Given the description of an element on the screen output the (x, y) to click on. 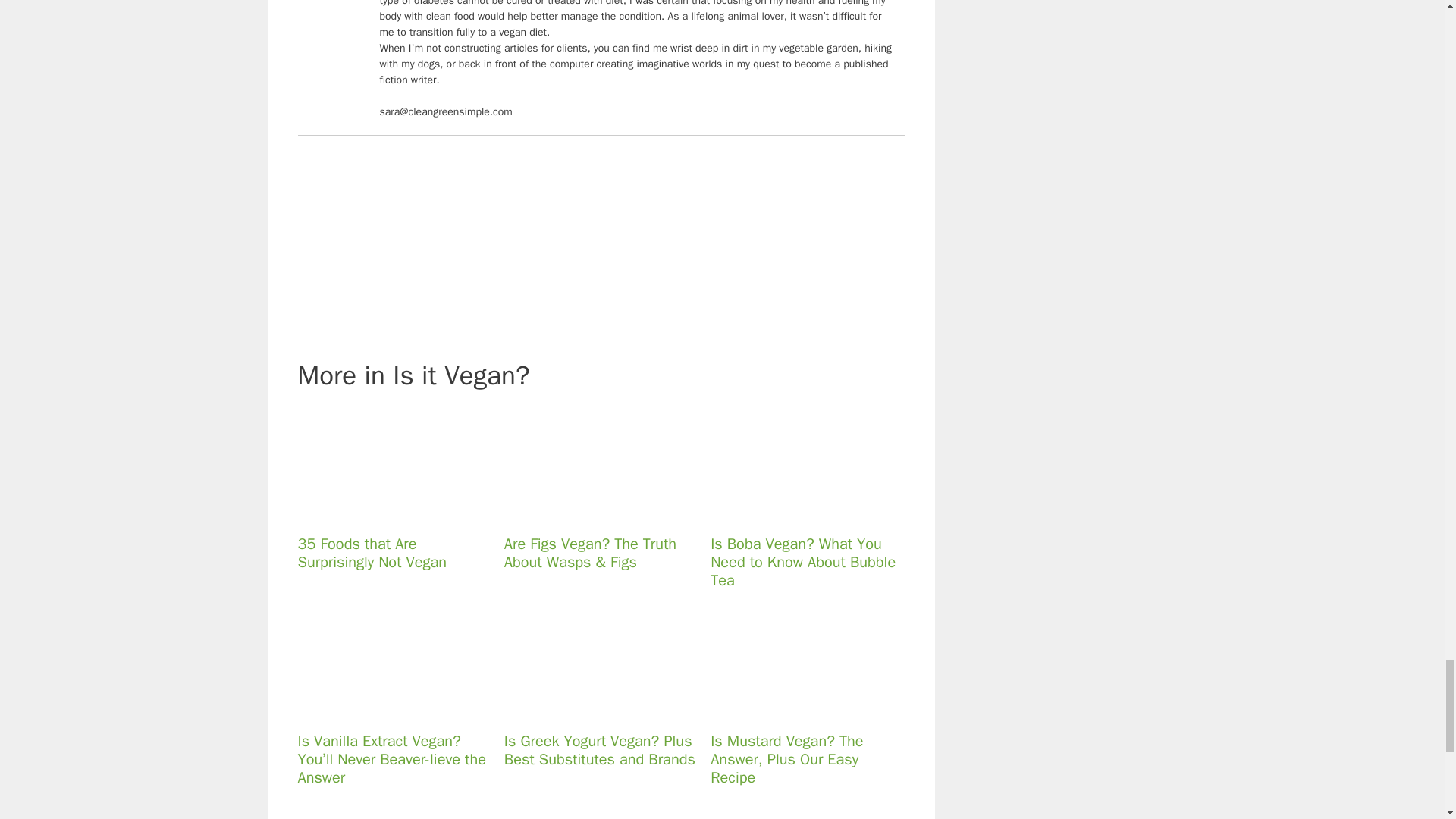
35 Foods that Are Surprisingly Not Vegan (384, 512)
Is Mustard Vegan? The Answer, Plus Our Easy Recipe (797, 709)
Is Greek Yogurt Vegan? Plus Best Substitutes and Brands (590, 709)
Is Boba Vegan? What You Need to Know About Bubble Tea (797, 512)
